Given the description of an element on the screen output the (x, y) to click on. 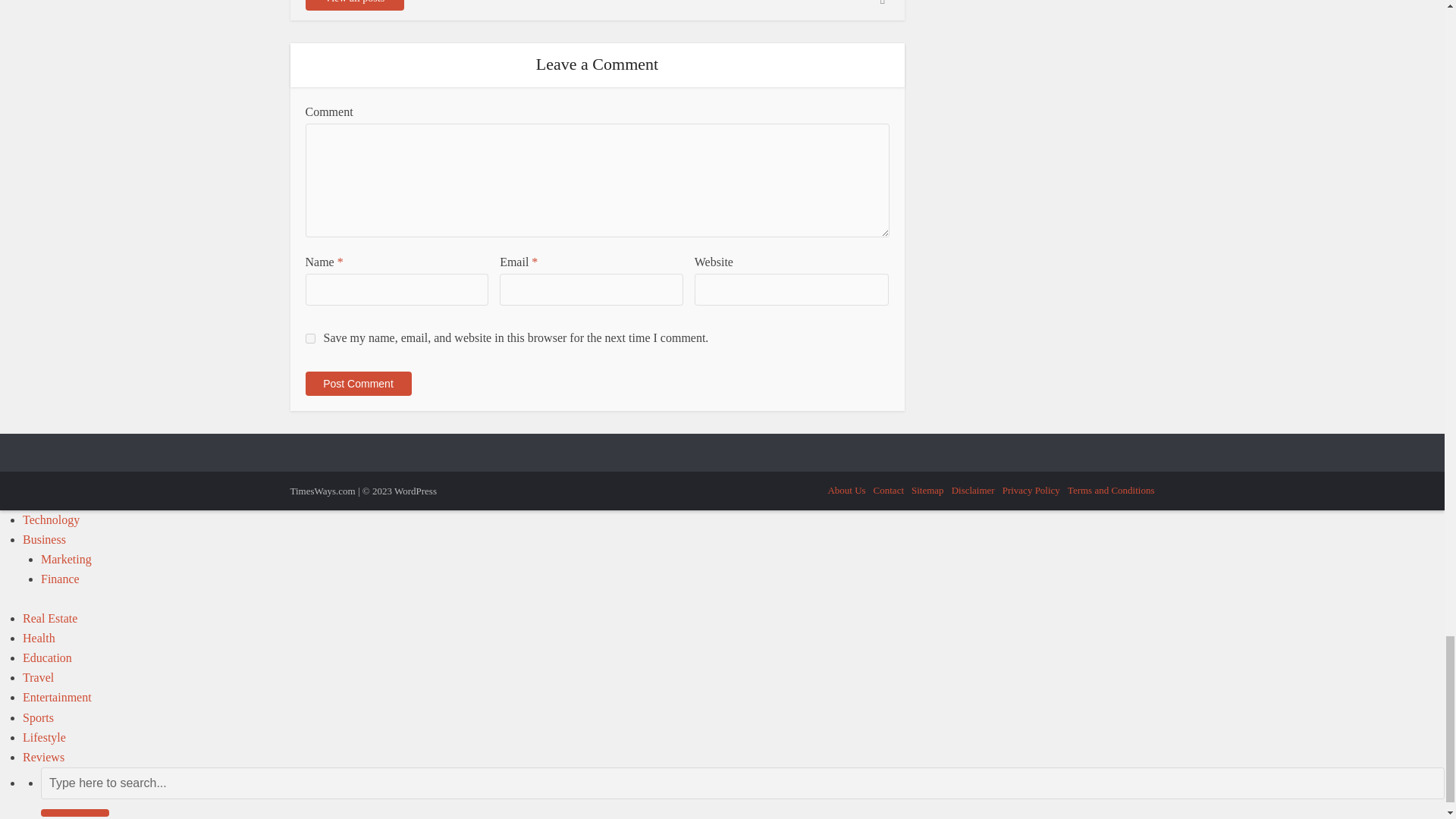
yes (309, 338)
Post Comment (357, 383)
